Given the description of an element on the screen output the (x, y) to click on. 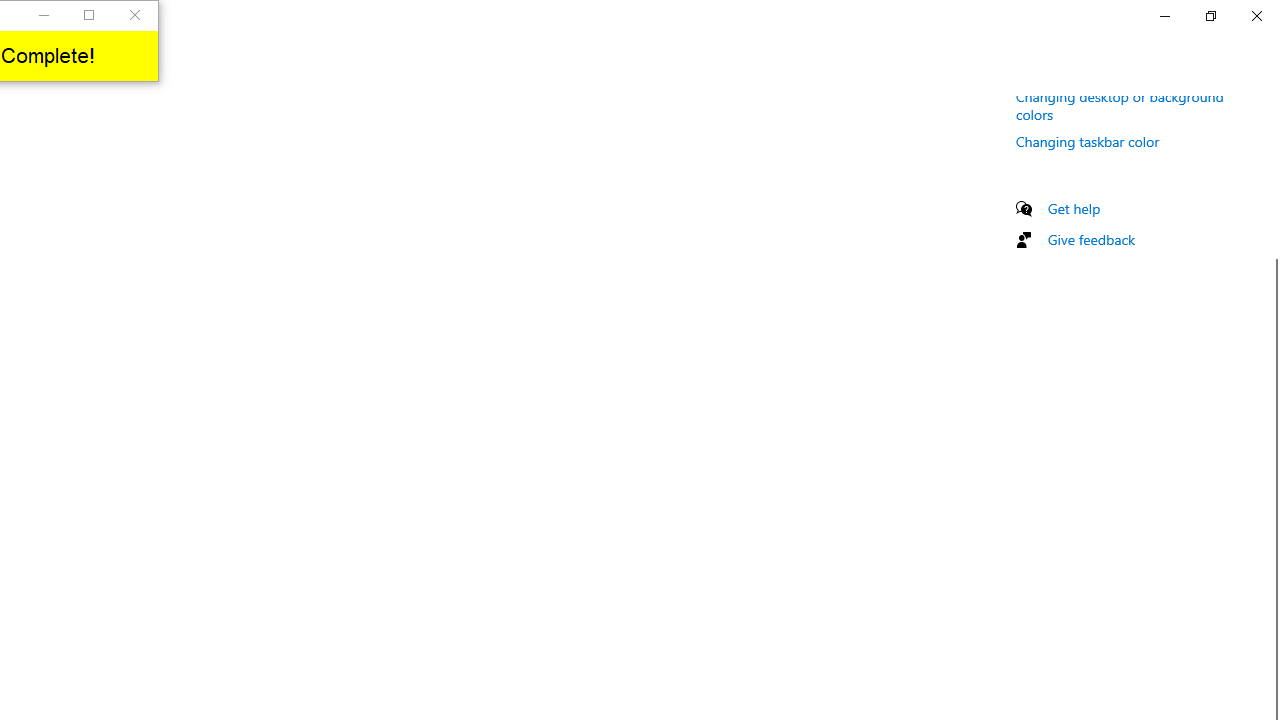
Get help (1074, 208)
Vertical Small Decrease (1272, 103)
Give feedback (1091, 239)
Changing taskbar color (1087, 141)
Changing desktop or background colors (1119, 104)
Vertical Large Decrease (1272, 185)
